Given the description of an element on the screen output the (x, y) to click on. 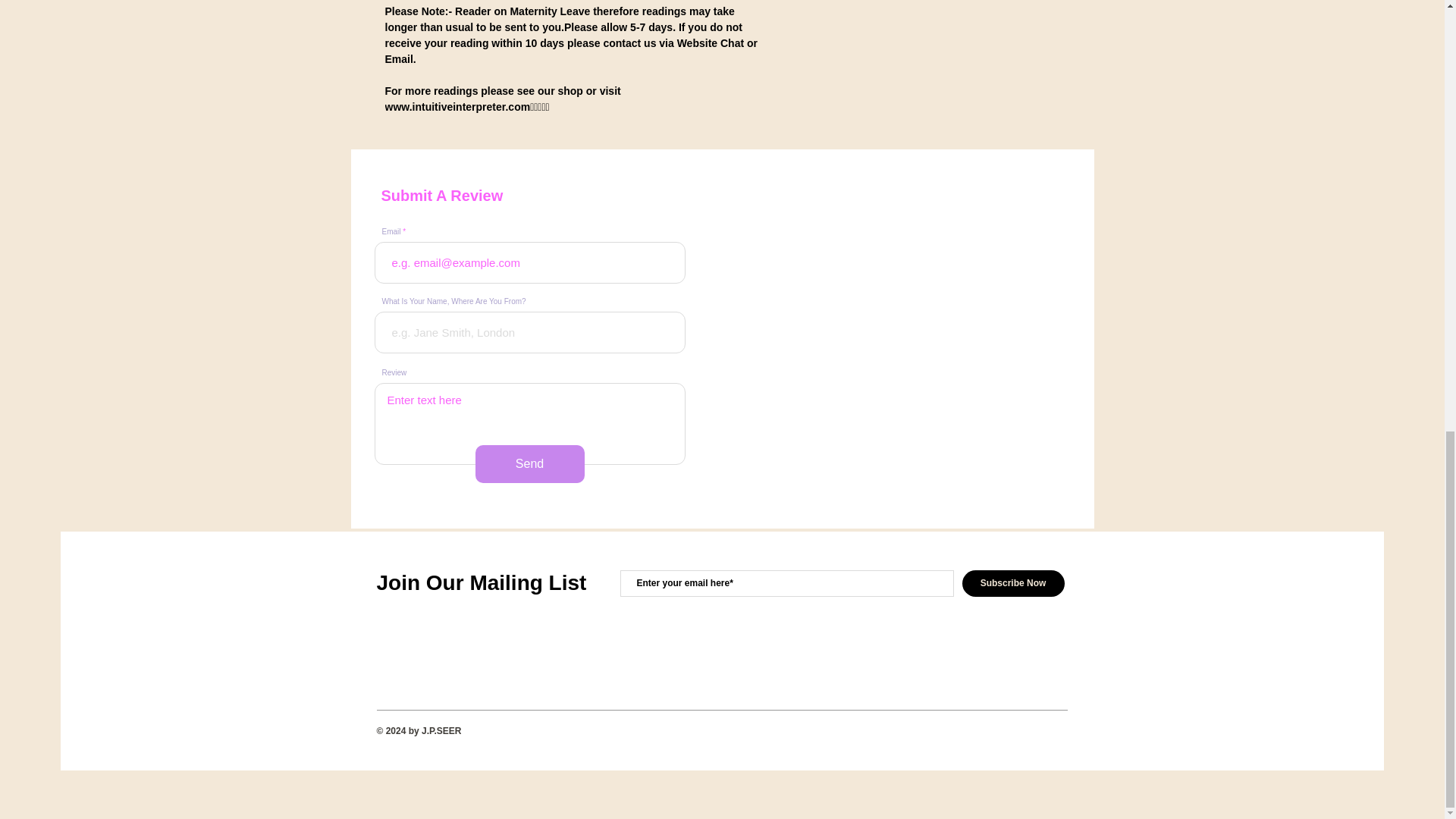
Subscribe Now (1012, 583)
Send (528, 464)
e.g. Jane Smith, London (529, 332)
